Given the description of an element on the screen output the (x, y) to click on. 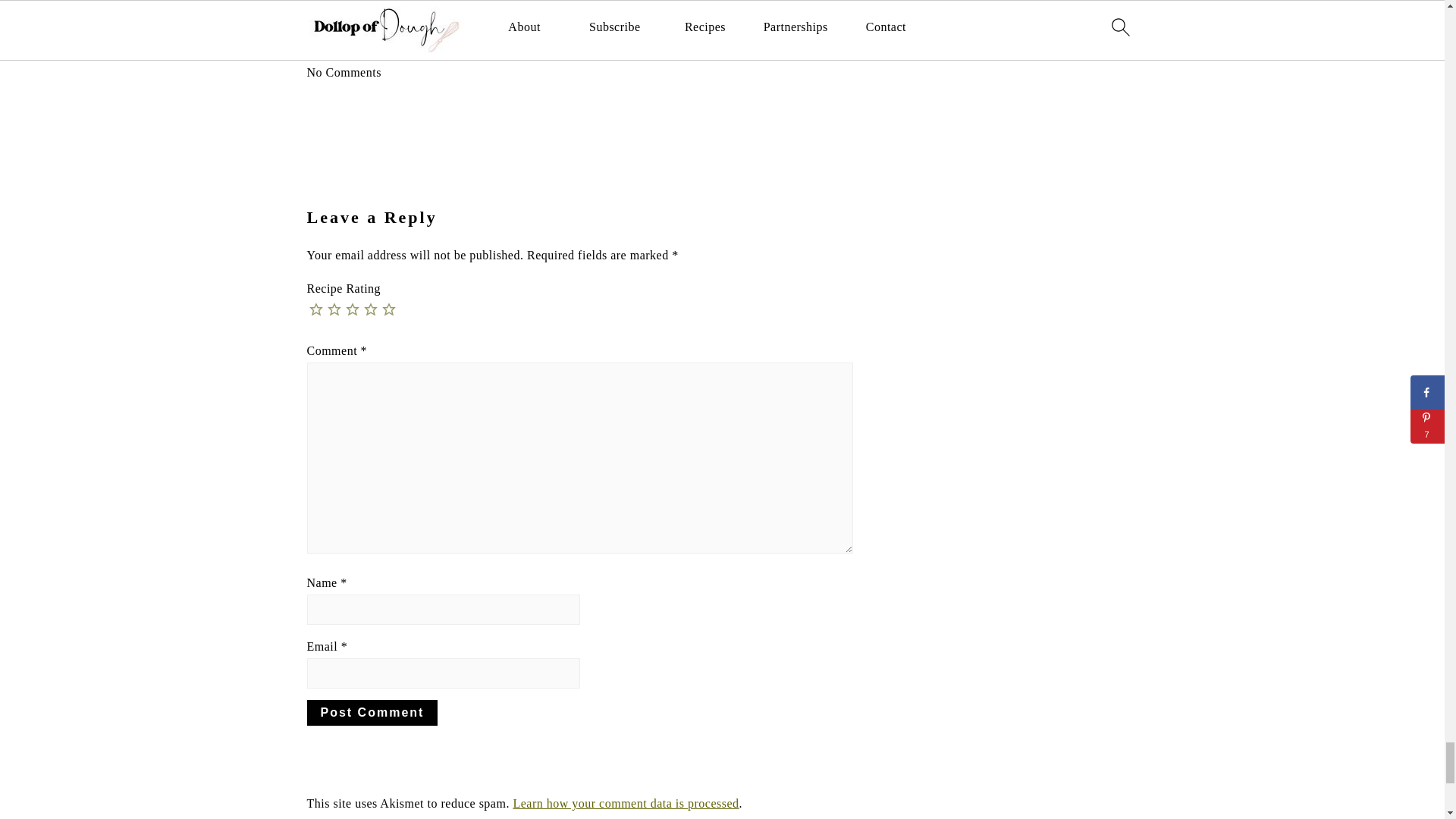
Post Comment (371, 712)
